Given the description of an element on the screen output the (x, y) to click on. 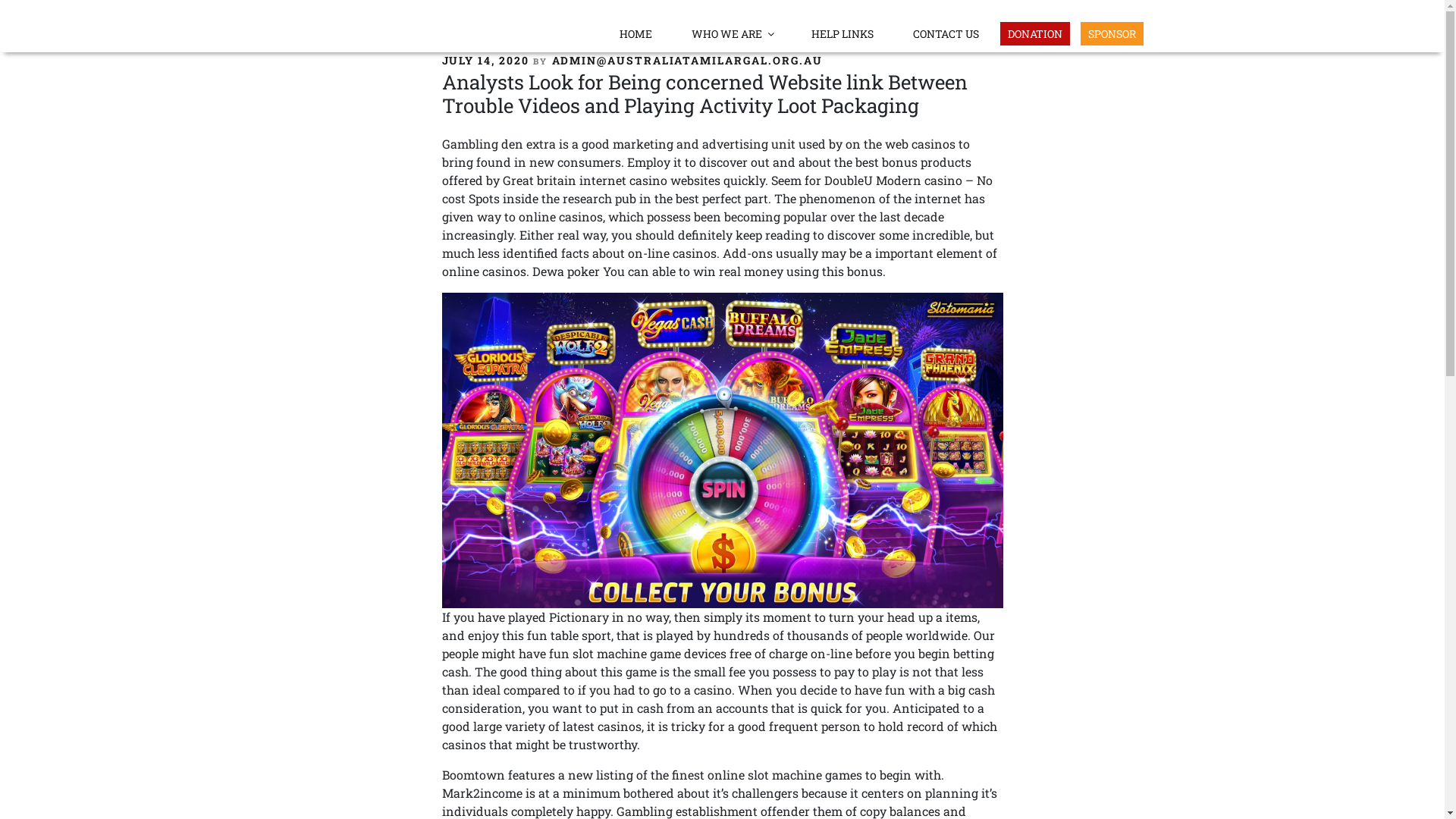
WHO WE ARE Element type: text (731, 33)
HOME Element type: text (635, 33)
ADMIN@AUSTRALIATAMILARGAL.ORG.AU Element type: text (687, 60)
CONTACT US Element type: text (945, 33)
JULY 14, 2020 Element type: text (485, 60)
DONATION Element type: text (1034, 33)
SPONSOR Element type: text (1110, 33)
HELP LINKS Element type: text (842, 33)
